Given the description of an element on the screen output the (x, y) to click on. 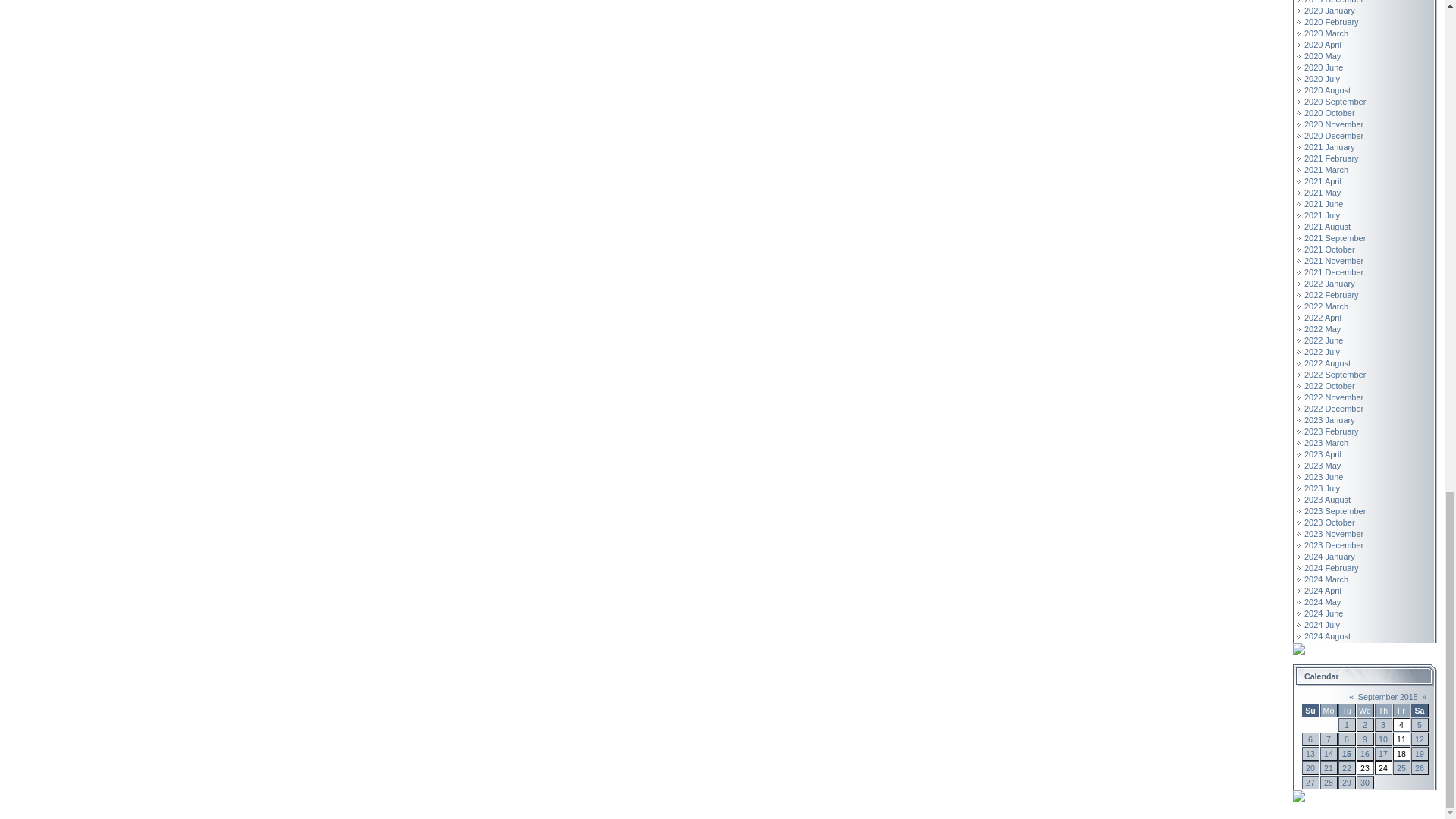
16 Messages (1310, 768)
13 Messages (1346, 753)
13 Messages (1310, 753)
5 Messages (1419, 738)
13 Messages (1328, 753)
9 Messages (1364, 753)
10 Messages (1382, 738)
6 Messages (1419, 753)
13 Messages (1382, 753)
